Given the description of an element on the screen output the (x, y) to click on. 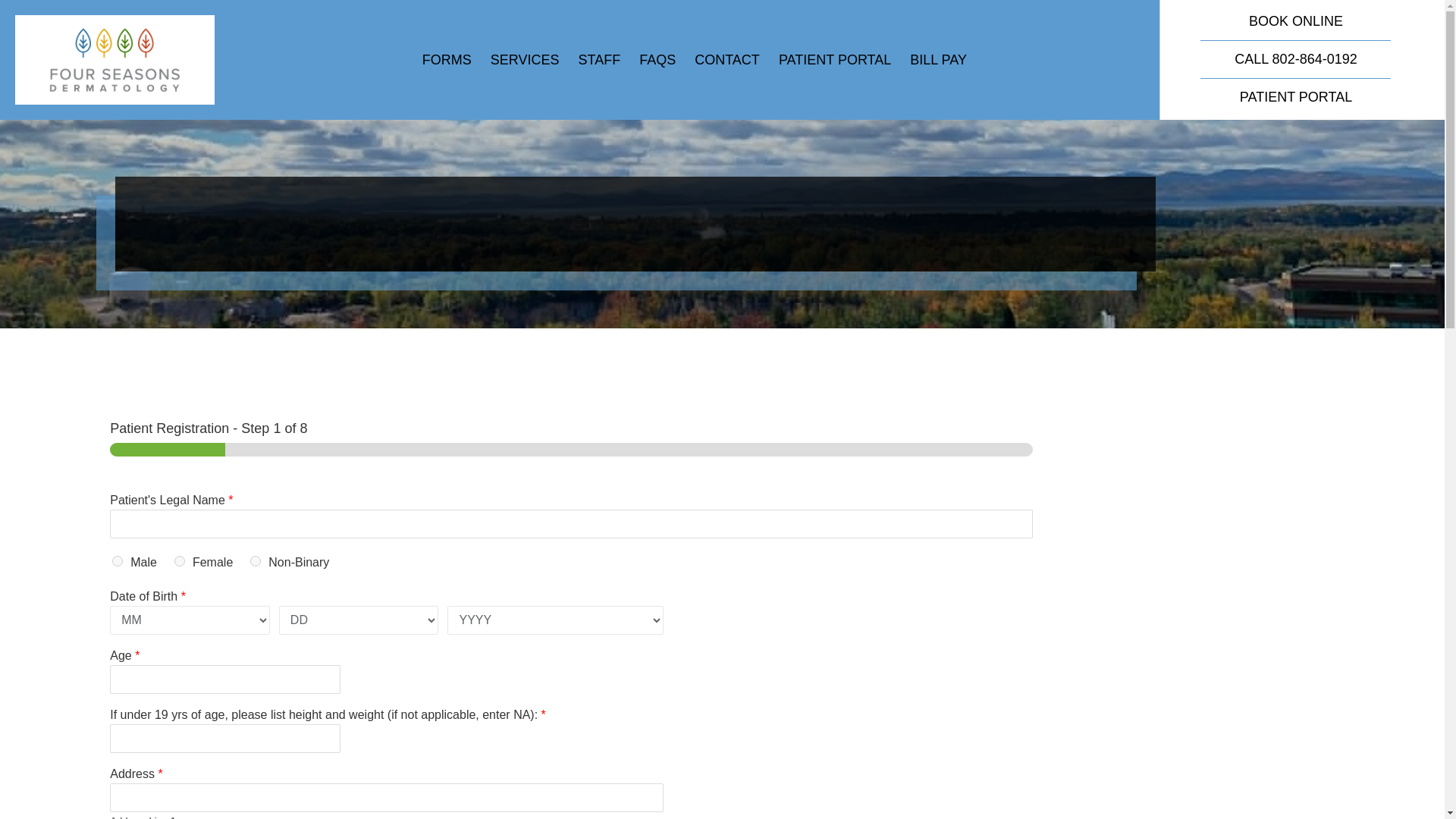
BILL PAY (938, 59)
PATIENT PORTAL (834, 59)
Non-Binary (255, 561)
Male (117, 561)
PATIENT PORTAL (1296, 97)
FORMS (446, 59)
Female (179, 561)
BOOK ONLINE (1295, 21)
FAQS (657, 59)
CALL 802-864-0192 (1295, 58)
